Given the description of an element on the screen output the (x, y) to click on. 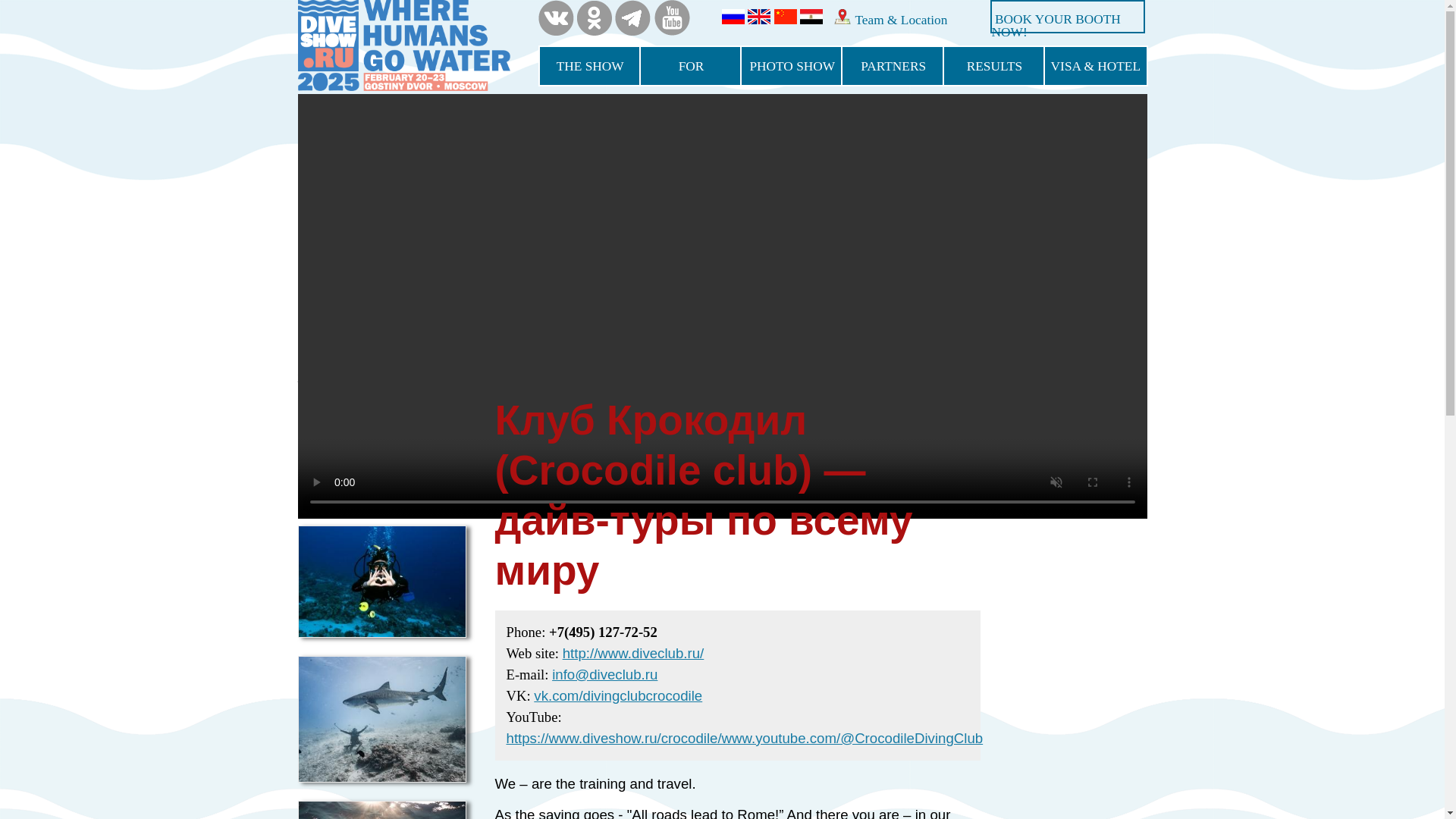
PARTNERS (892, 65)
BOOK YOUR BOOTH NOW! (1056, 25)
Moscow Dive Show in VK (555, 18)
FOR EXHIBITORS (690, 65)
PHOTO SHOW (791, 65)
Moscow Dive Show on YouTube (671, 18)
China (785, 19)
For Exhibitors (690, 65)
RESULTS (994, 65)
THE SHOW (590, 65)
The Show (590, 65)
English (759, 19)
Moscow Dive Show in TG (632, 18)
Moscow Dive Show in OK (593, 18)
